Given the description of an element on the screen output the (x, y) to click on. 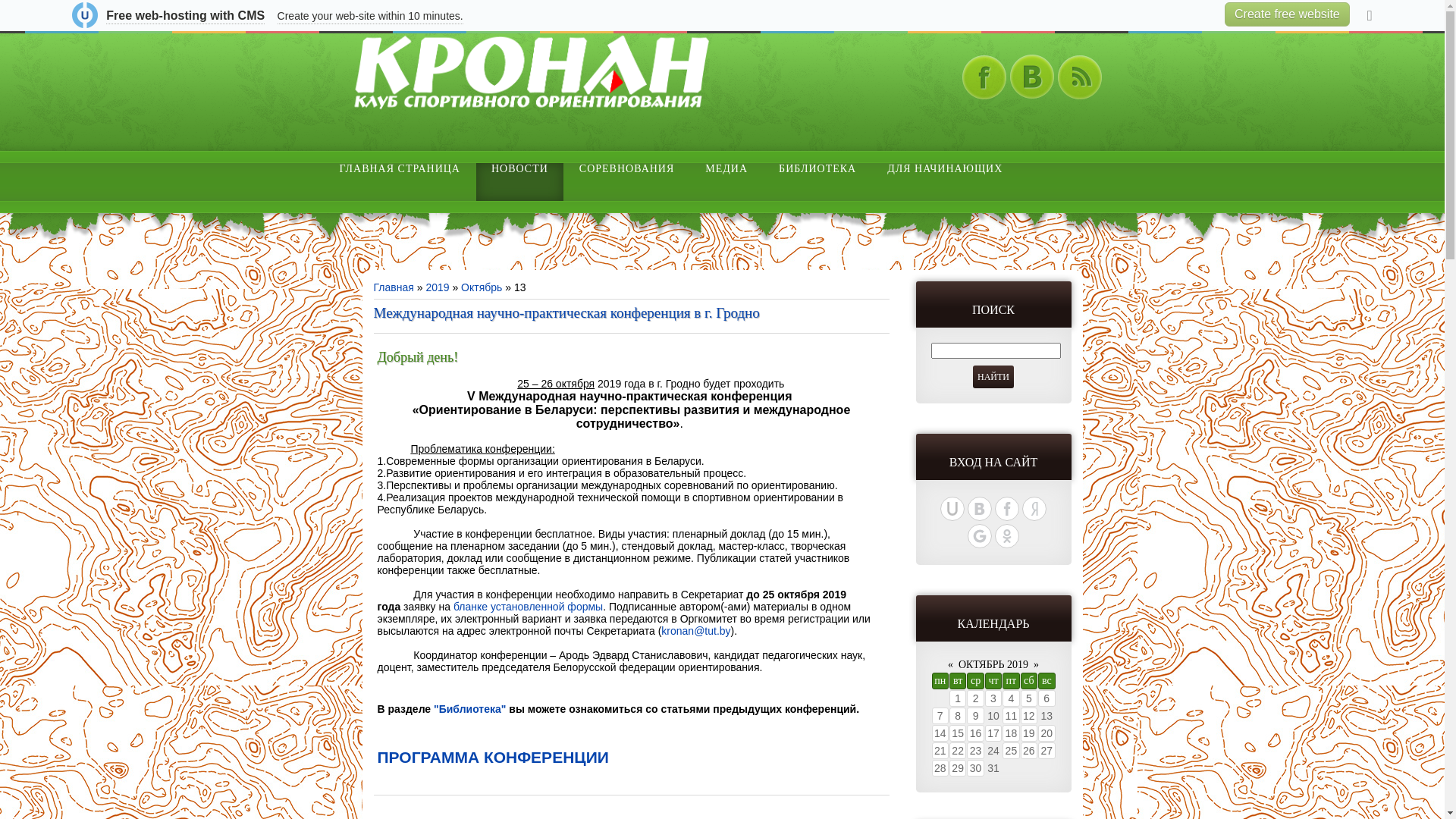
10 Element type: text (993, 715)
24 Element type: text (993, 750)
31 Element type: text (993, 768)
kronan@tut.by Element type: text (695, 630)
13 Element type: text (1046, 715)
2019 Element type: text (436, 287)
